Given the description of an element on the screen output the (x, y) to click on. 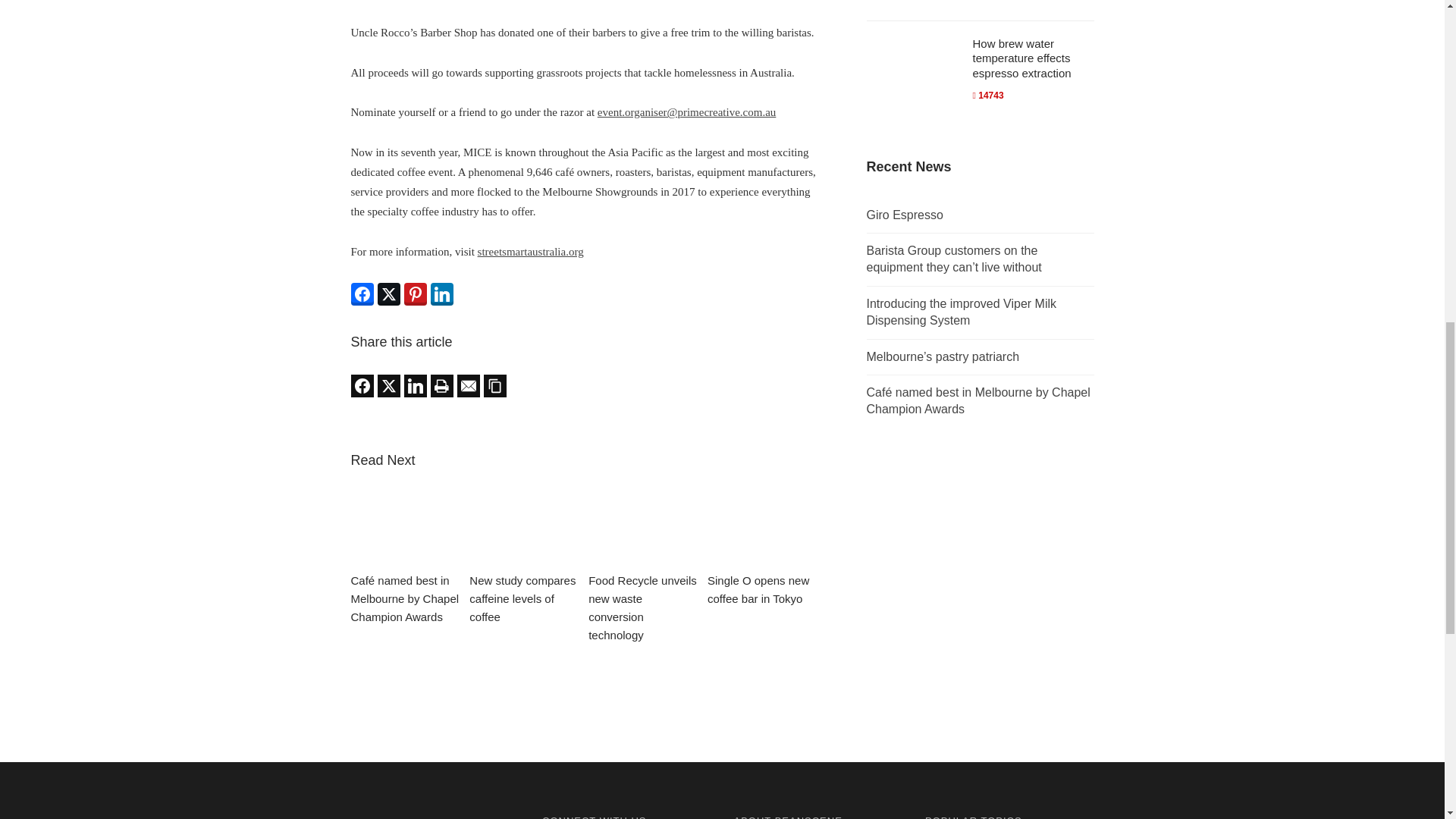
Share on Pinterest (414, 293)
Share on Facebook (361, 293)
Share on Twitter (388, 385)
Share on Twitter (388, 293)
streetsmartaustralia.org (530, 251)
Share on LinkedIn (414, 385)
Share on Print (441, 385)
Share on LinkedIn (441, 293)
Share on Facebook (361, 385)
